Given the description of an element on the screen output the (x, y) to click on. 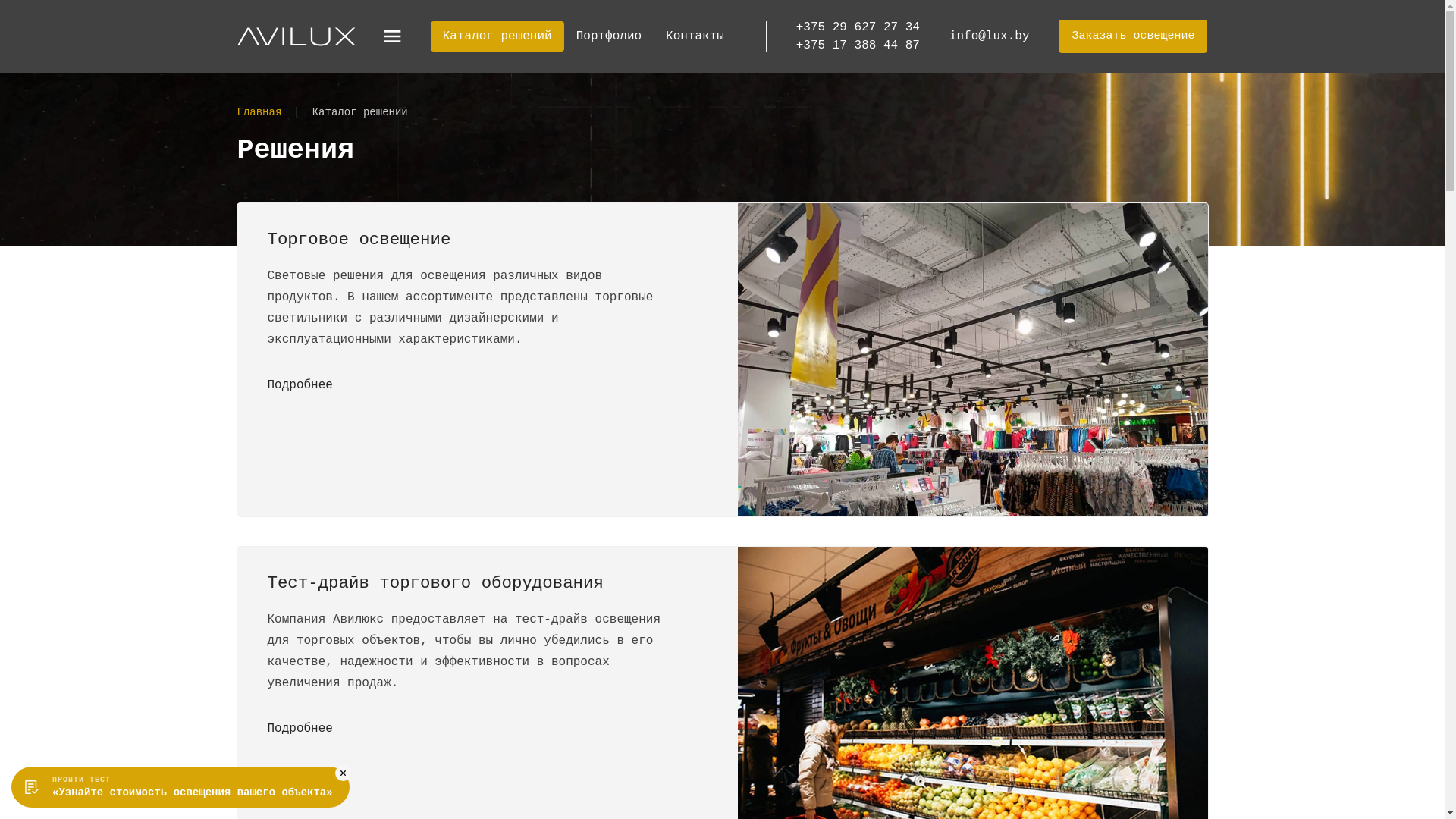
+375 17 388 44 87 Element type: text (857, 45)
+375 29 627 27 34 Element type: text (857, 27)
info@lux.by Element type: text (989, 36)
